Given the description of an element on the screen output the (x, y) to click on. 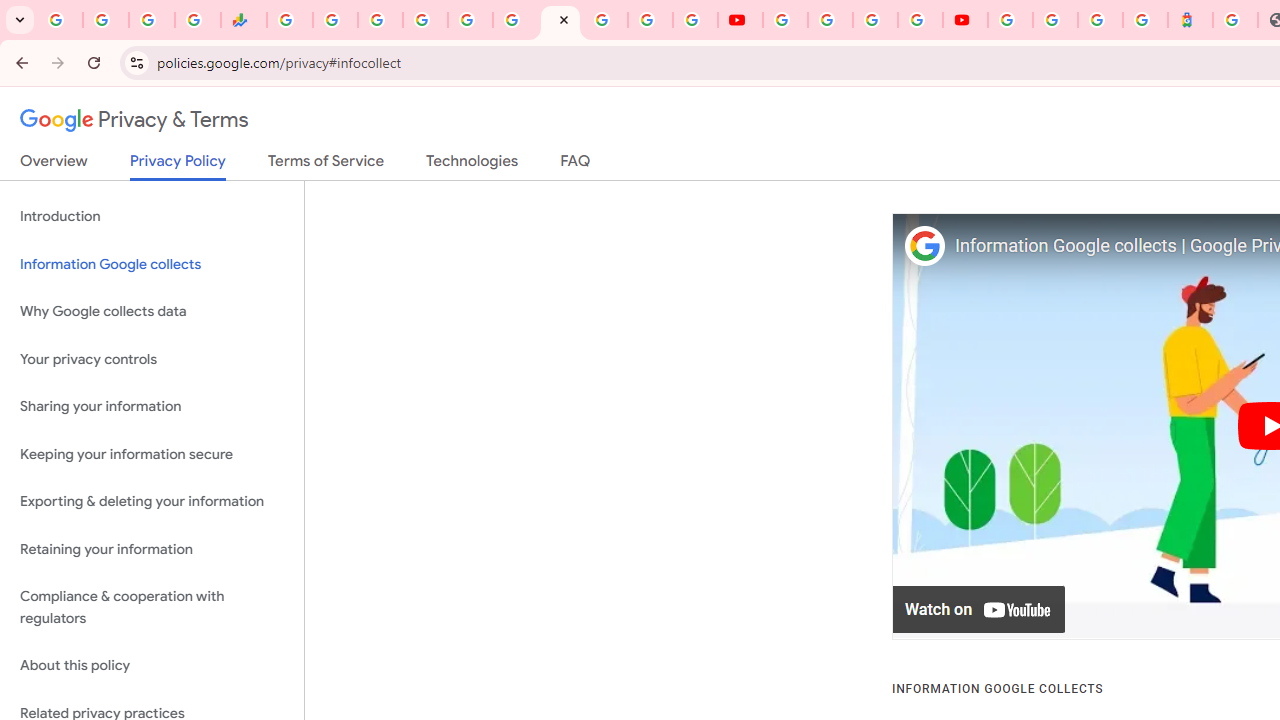
Retaining your information (152, 548)
Sharing your information (152, 407)
Sign in - Google Accounts (425, 20)
Exporting & deleting your information (152, 502)
